Given the description of an element on the screen output the (x, y) to click on. 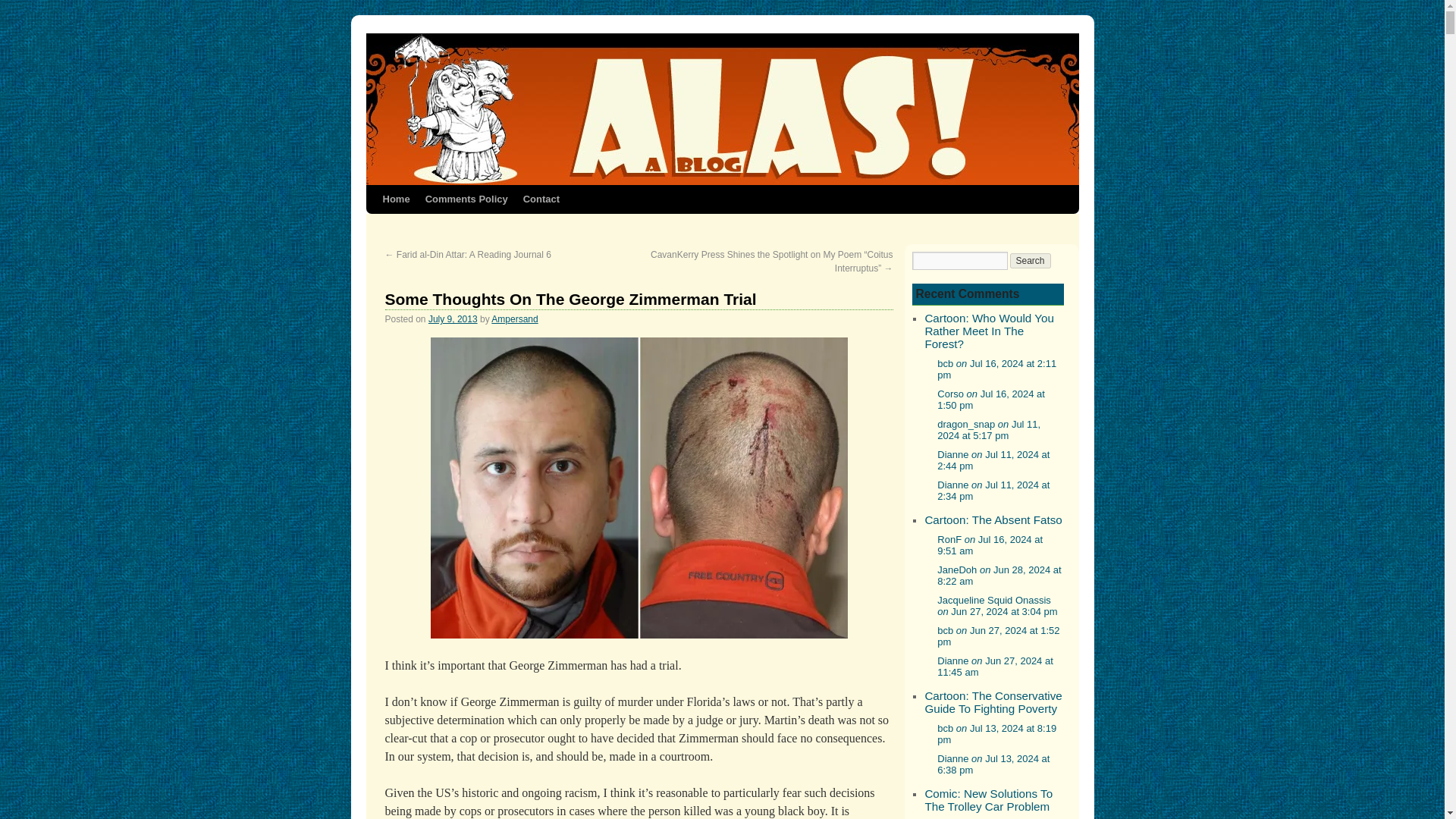
July 9, 2013 (452, 318)
Ampersand (514, 318)
10:15 am (452, 318)
Comments Policy (466, 199)
View all posts by Ampersand (514, 318)
Contact (541, 199)
Search (1030, 260)
Home (395, 199)
